Given the description of an element on the screen output the (x, y) to click on. 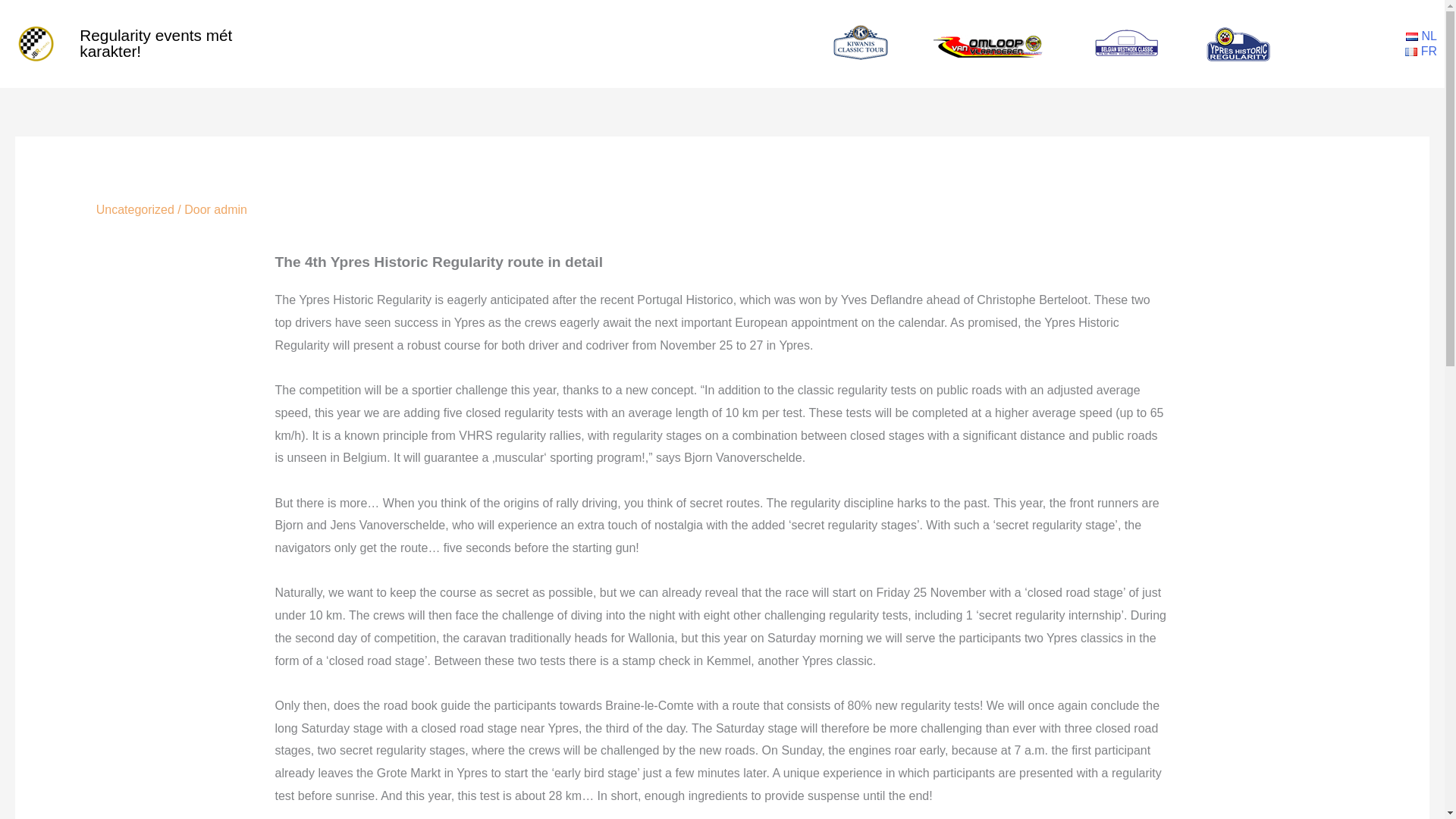
NL (1372, 36)
admin (230, 209)
FR (1372, 51)
Alle posts weergeven van admin (230, 209)
Uncategorized (135, 209)
